Given the description of an element on the screen output the (x, y) to click on. 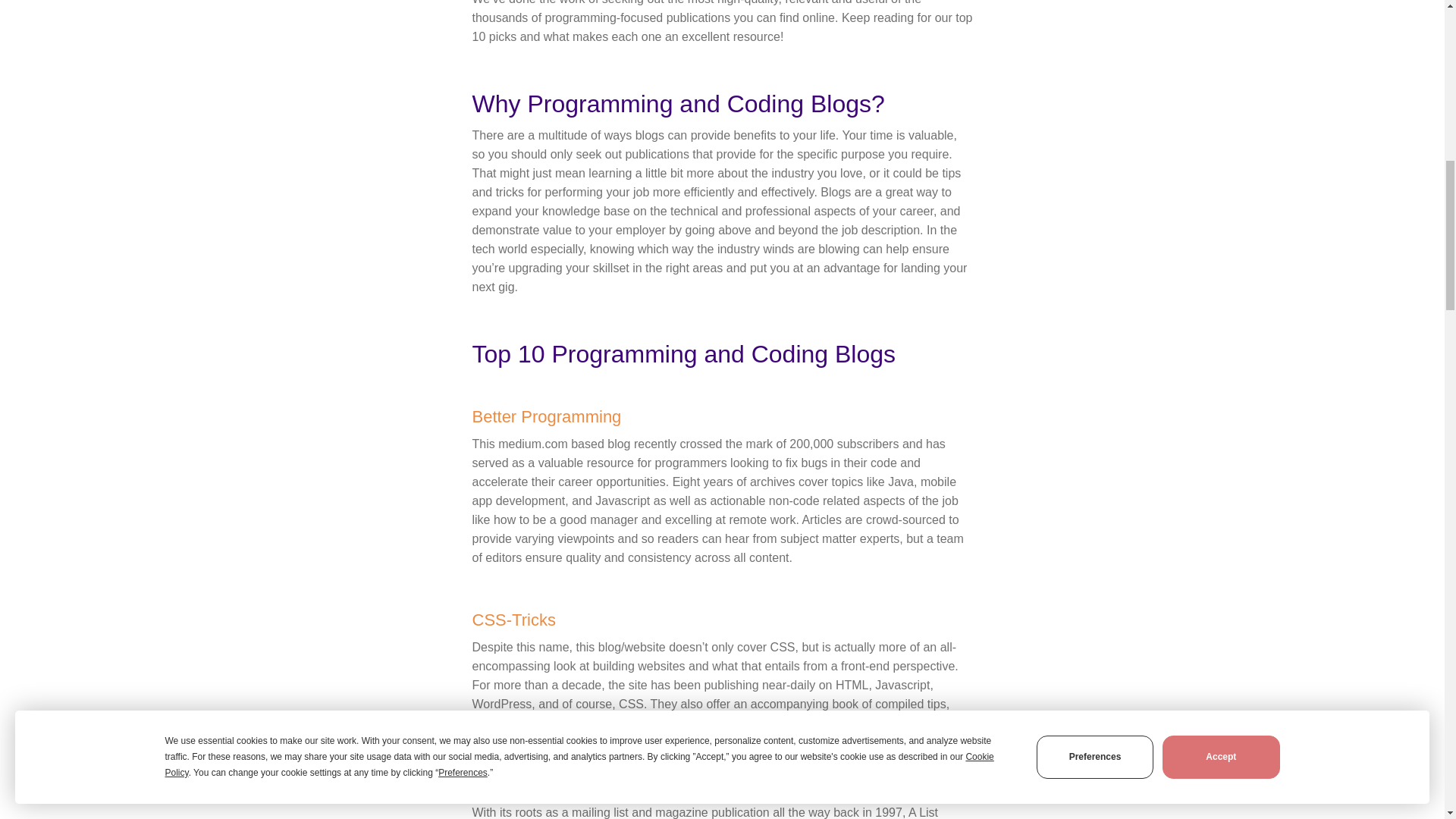
CSS-Tricks (512, 619)
A List Apart (513, 784)
Better Programming (546, 416)
